Given the description of an element on the screen output the (x, y) to click on. 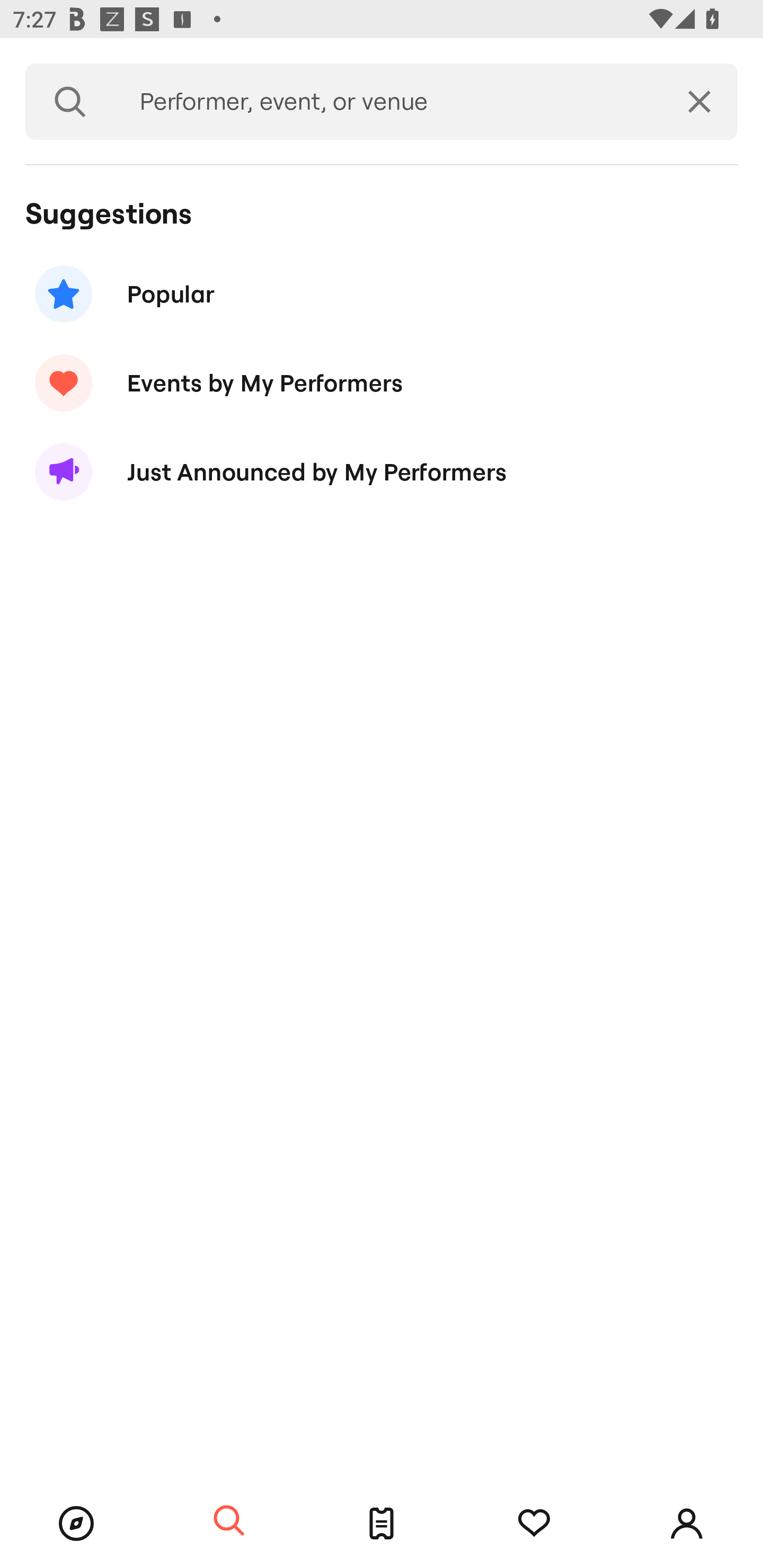
Search (69, 101)
Performer, event, or venue (387, 101)
Clear (699, 101)
Popular (381, 293)
Events by My Performers (381, 383)
Just Announced by My Performers (381, 471)
Browse (76, 1523)
Search (228, 1521)
Tickets (381, 1523)
Tracking (533, 1523)
Account (686, 1523)
